Given the description of an element on the screen output the (x, y) to click on. 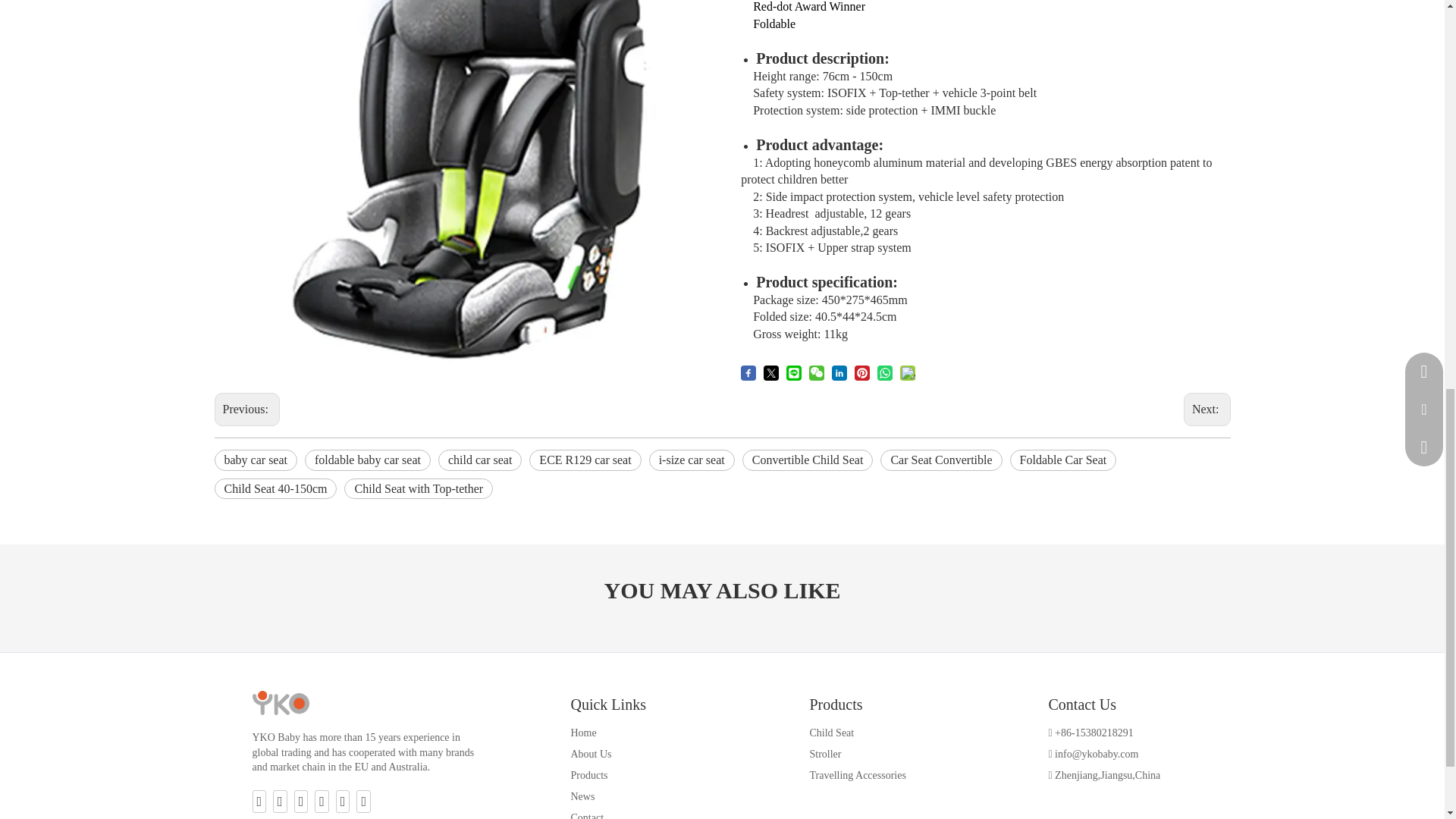
ECE R129 car seat (584, 459)
baby car seat (255, 459)
i-size car seat (692, 459)
foldable baby car seat (367, 459)
child car seat (479, 459)
